Given the description of an element on the screen output the (x, y) to click on. 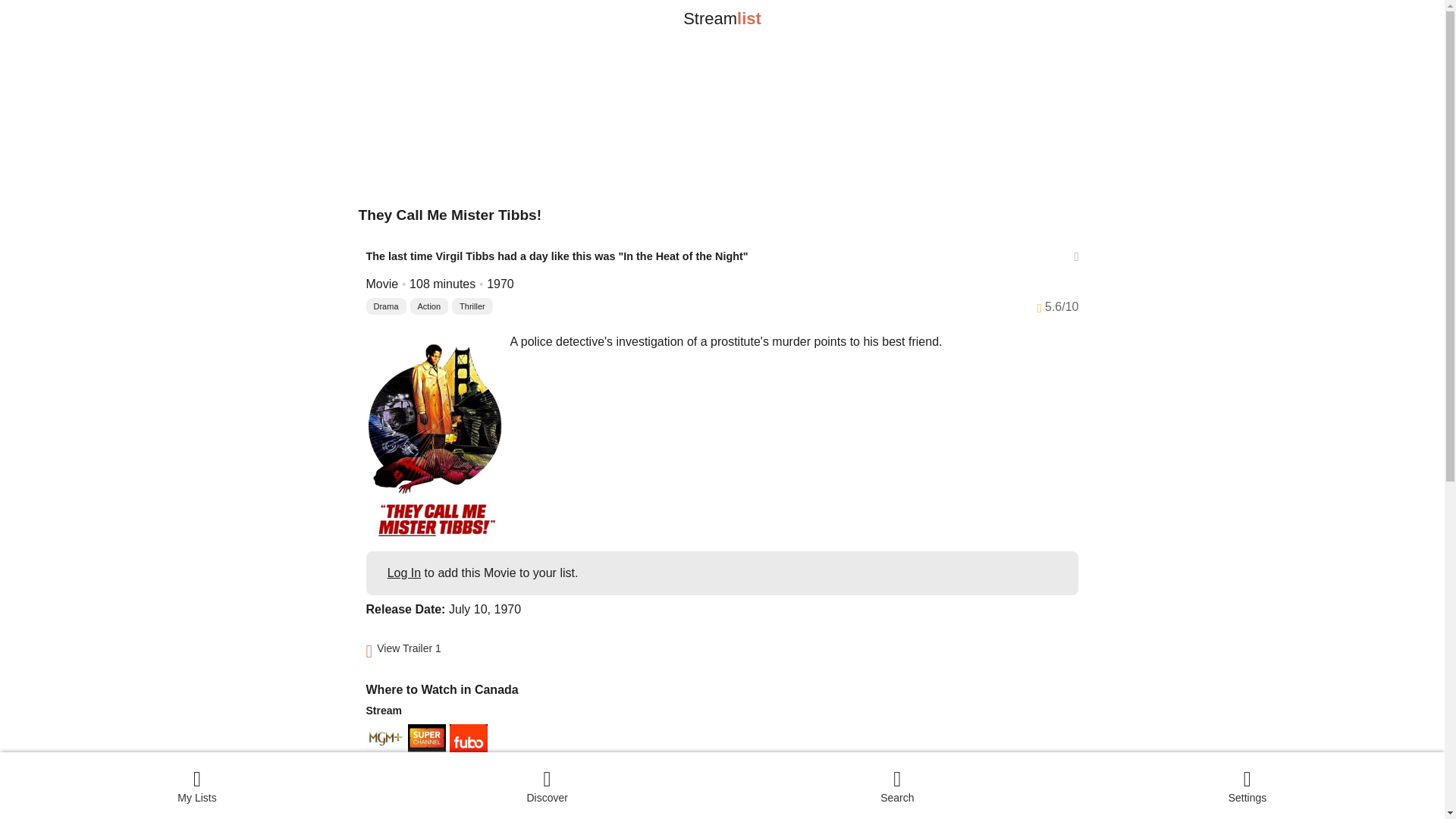
Search (897, 785)
Log In (403, 572)
Thriller (472, 306)
Streamlist (721, 18)
Action (429, 306)
Settings (1247, 785)
Drama (385, 306)
Discover (547, 785)
My Lists (197, 785)
